Given the description of an element on the screen output the (x, y) to click on. 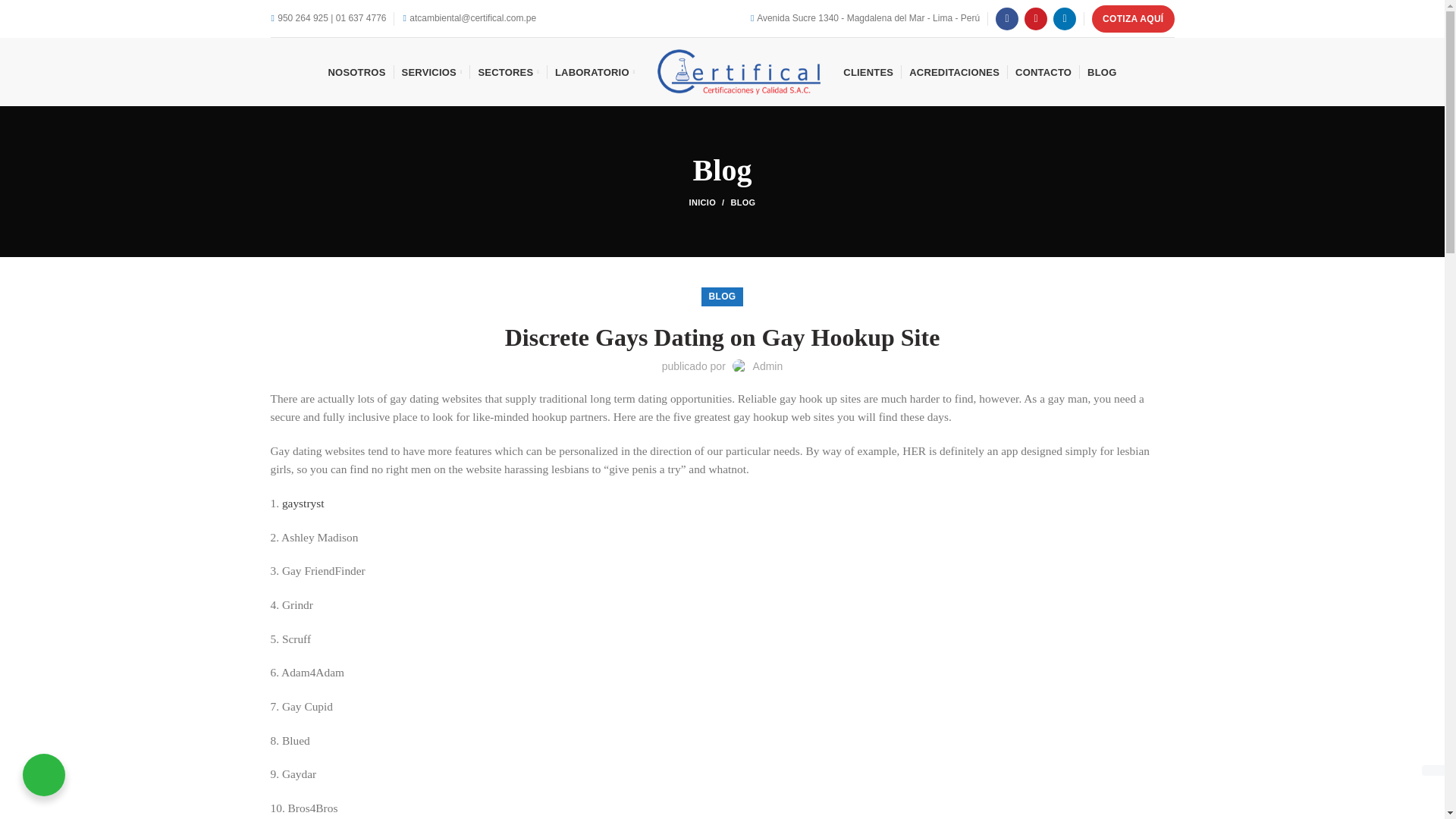
LABORATORIO (594, 71)
gaystryst (303, 502)
BLOG (1102, 71)
CLIENTES (868, 71)
linkedin (1063, 18)
Youtube (1035, 18)
Facebook (1006, 18)
NOSOTROS (356, 71)
CONTACTO (1042, 71)
SECTORES (508, 71)
